Given the description of an element on the screen output the (x, y) to click on. 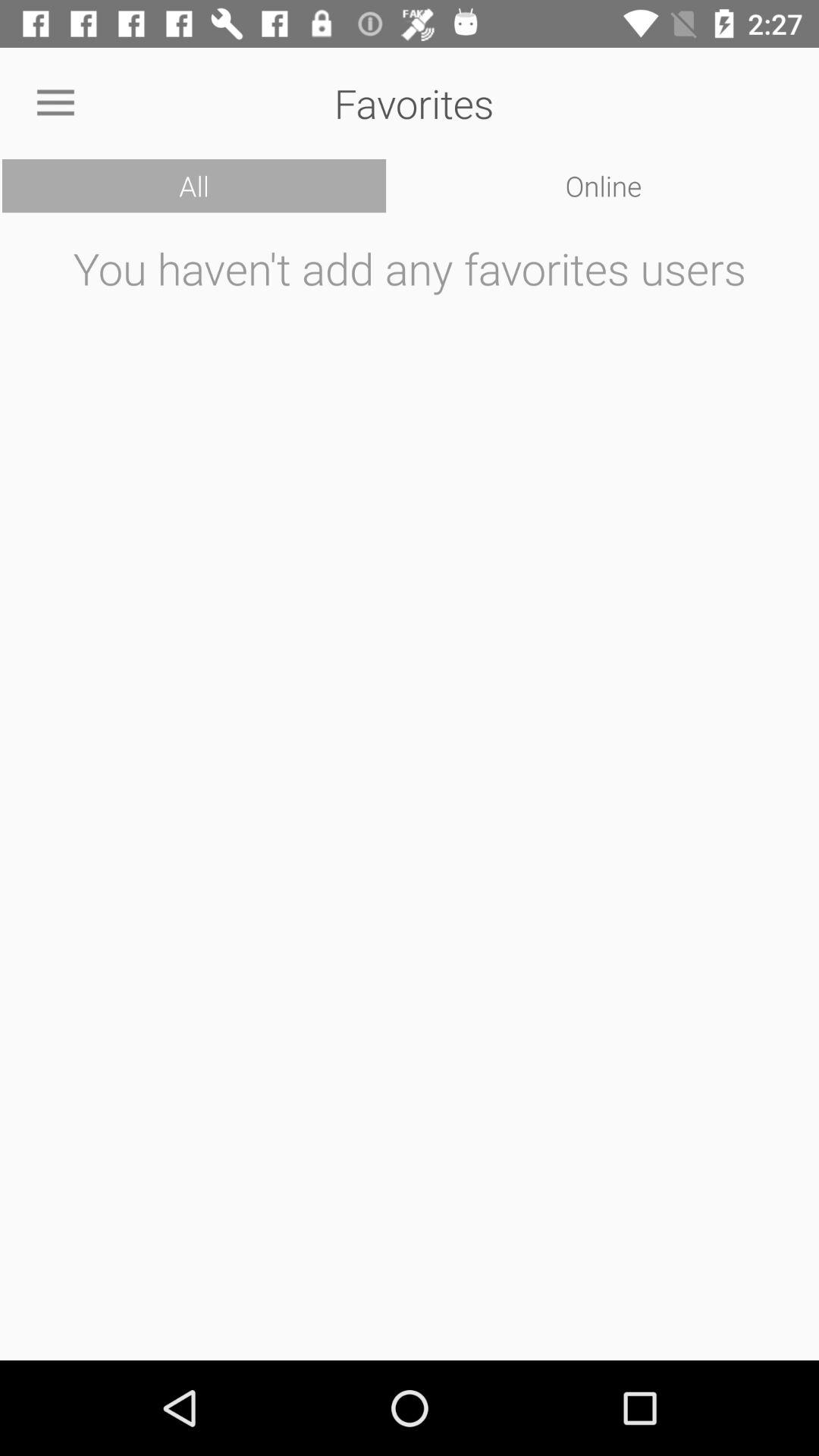
click icon at the top right corner (603, 185)
